Given the description of an element on the screen output the (x, y) to click on. 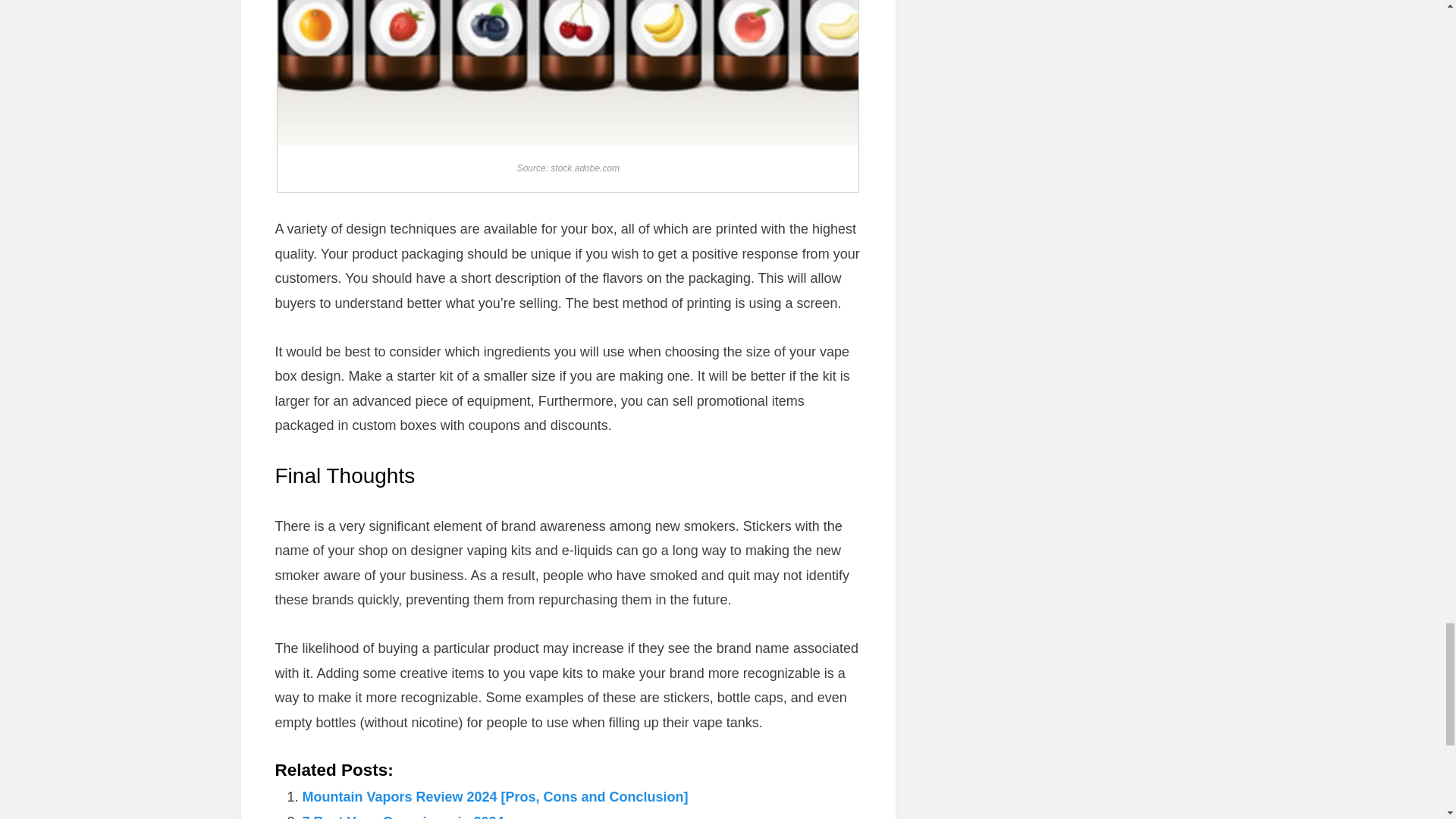
7 Best Vape Organizers in 2024 (402, 816)
7 Best Vape Organizers in 2024 (402, 816)
